Given the description of an element on the screen output the (x, y) to click on. 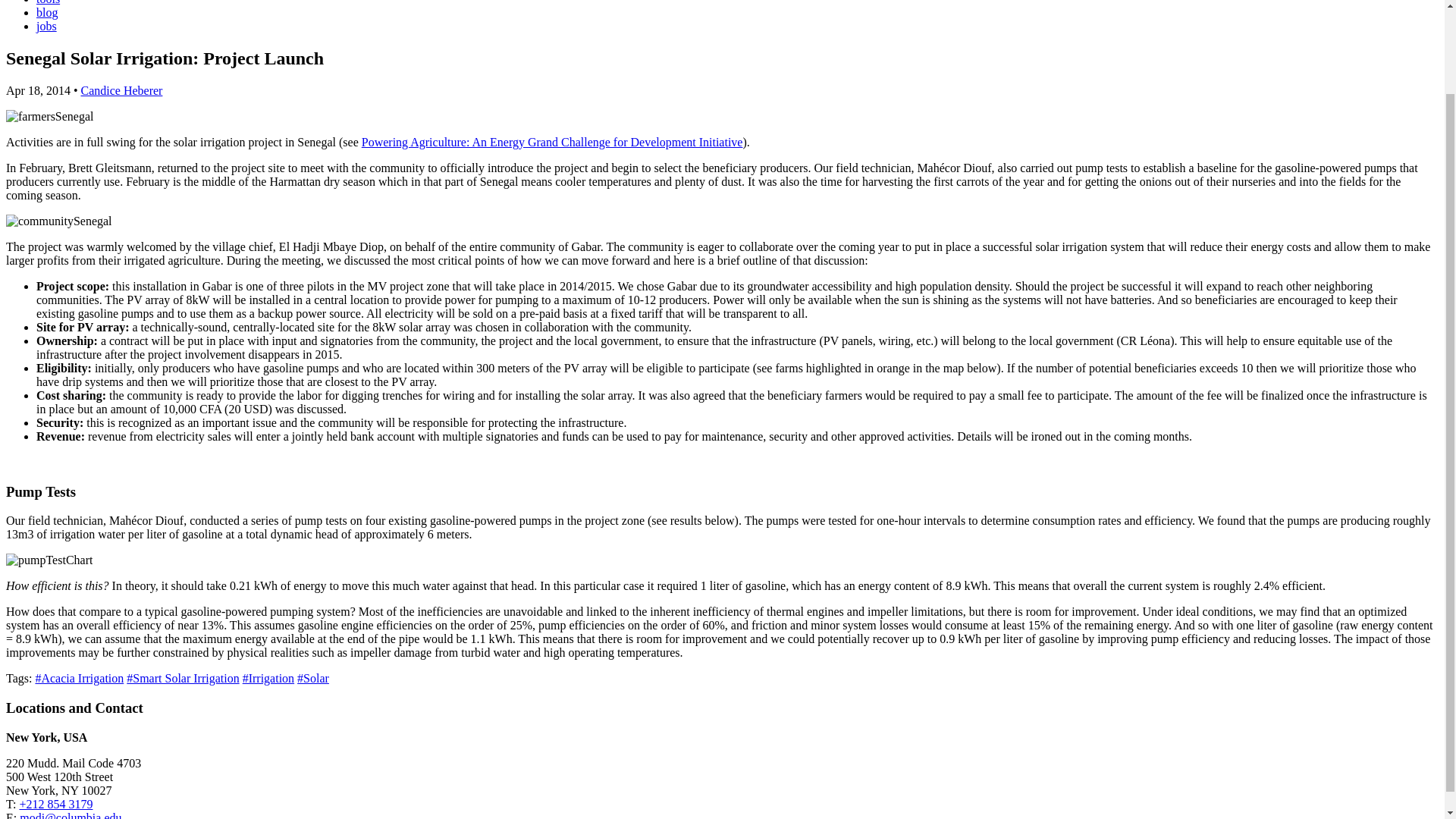
jobs (46, 25)
Candice Heberer (120, 90)
tools (47, 2)
blog (47, 11)
